Given the description of an element on the screen output the (x, y) to click on. 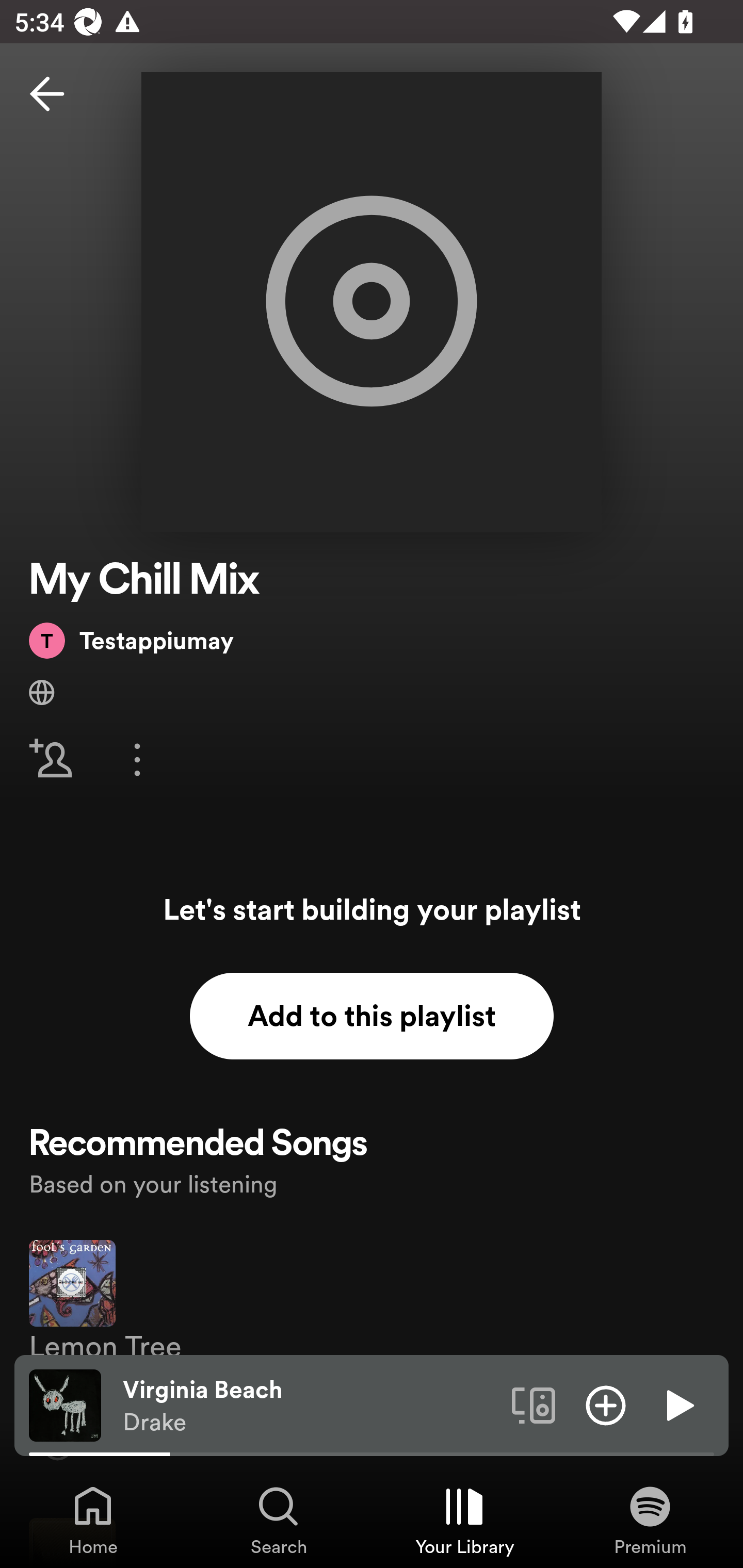
Back (46, 93)
Testappiumay (131, 640)
Invite Friends for playlist (50, 759)
More options for playlist My Chill Mix (136, 759)
Add to this playlist (371, 1015)
Virginia Beach Drake (309, 1405)
The cover art of the currently playing track (64, 1404)
Connect to a device. Opens the devices menu (533, 1404)
Add item (605, 1404)
Play (677, 1404)
Home, Tab 1 of 4 Home Home (92, 1519)
Search, Tab 2 of 4 Search Search (278, 1519)
Your Library, Tab 3 of 4 Your Library Your Library (464, 1519)
Premium, Tab 4 of 4 Premium Premium (650, 1519)
